Given the description of an element on the screen output the (x, y) to click on. 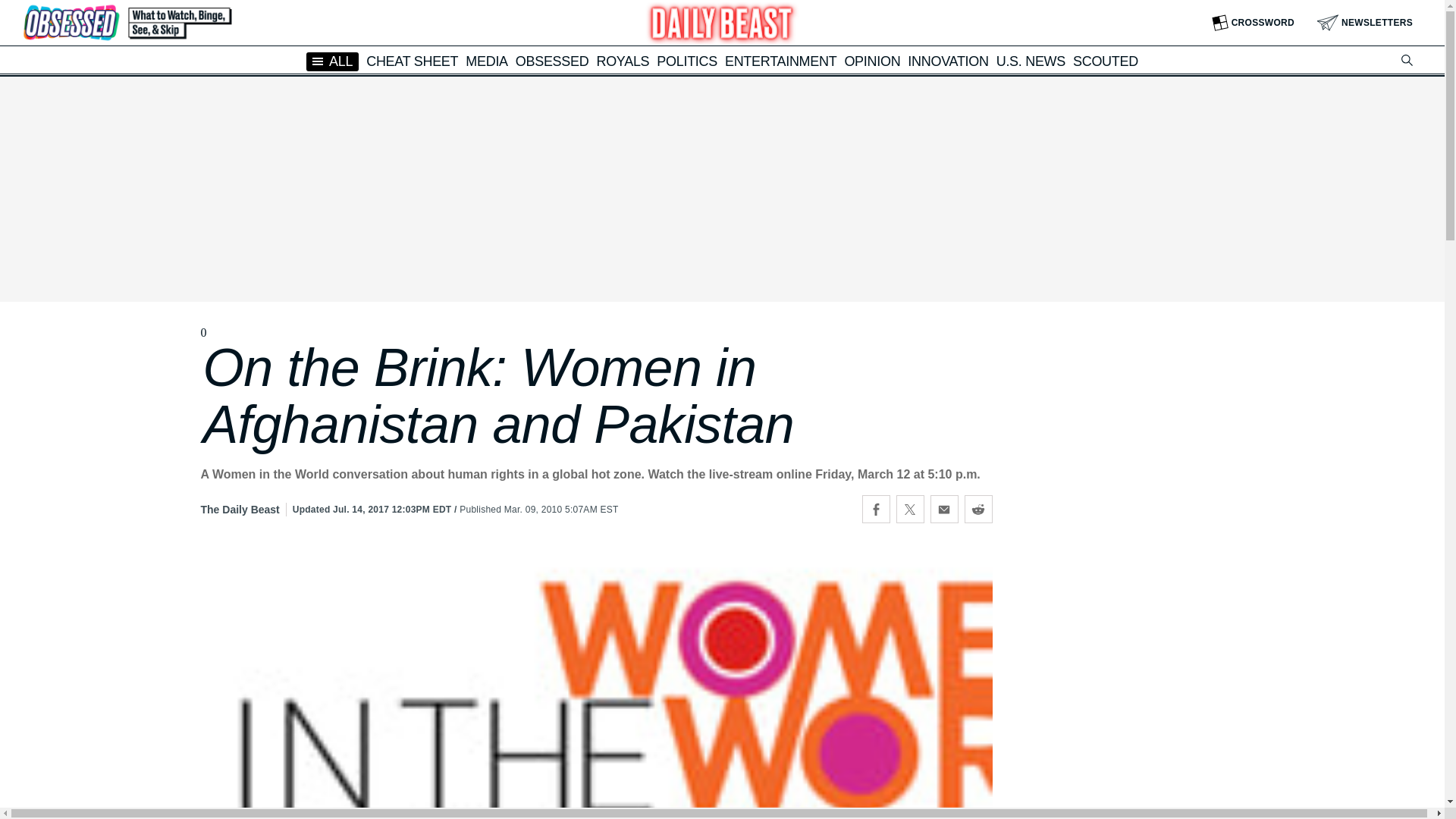
ENTERTAINMENT (780, 60)
NEWSLETTERS (1364, 22)
CHEAT SHEET (412, 60)
ALL (331, 60)
OPINION (871, 60)
SCOUTED (1105, 60)
MEDIA (486, 60)
CROSSWORD (1252, 22)
ROYALS (622, 60)
OBSESSED (552, 60)
